Given the description of an element on the screen output the (x, y) to click on. 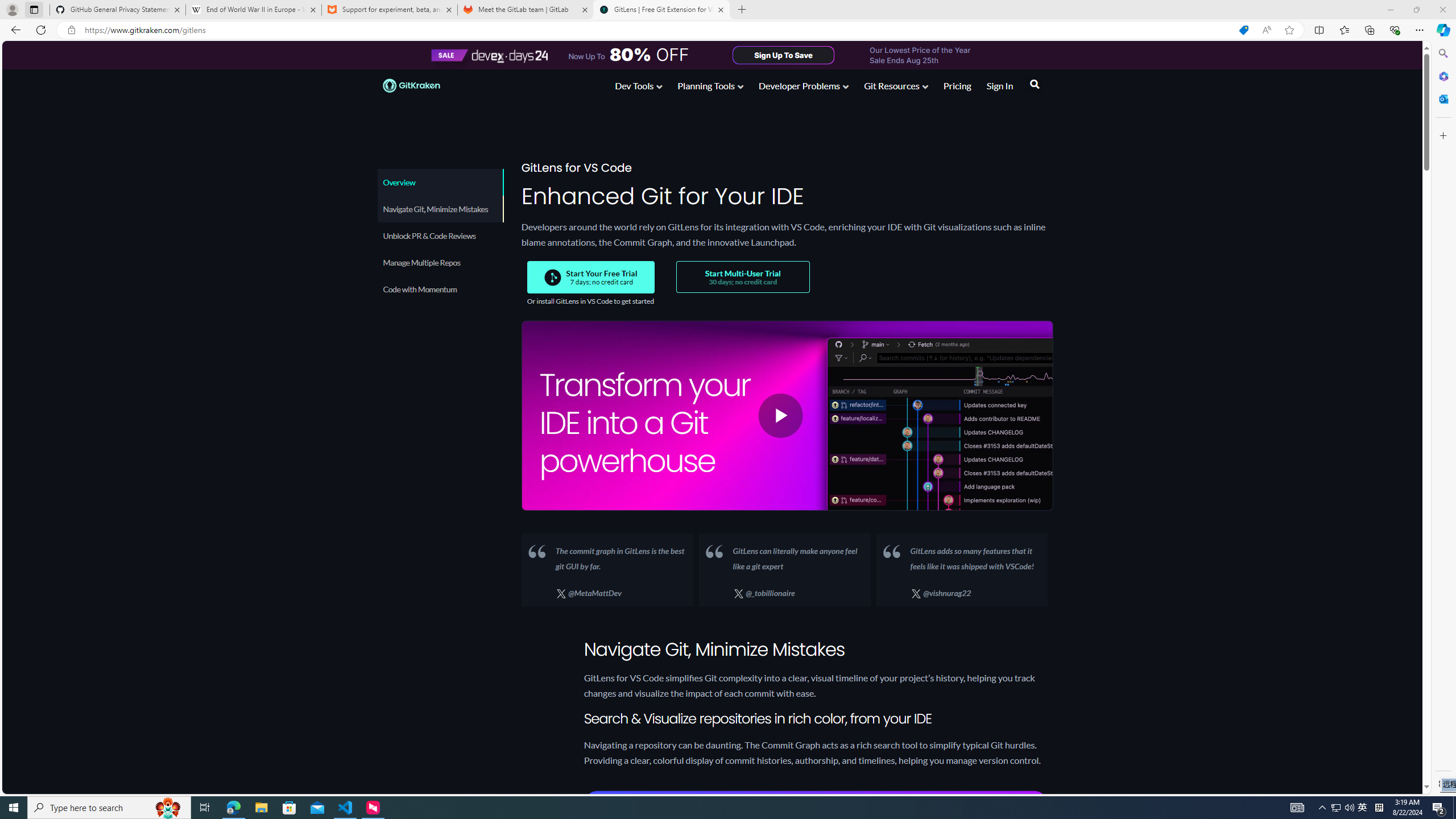
Visual Studio Code - 1 running window (345, 807)
AutomationID: 4105 (1297, 807)
User Promoted Notification Area (1362, 807)
